Given the description of an element on the screen output the (x, y) to click on. 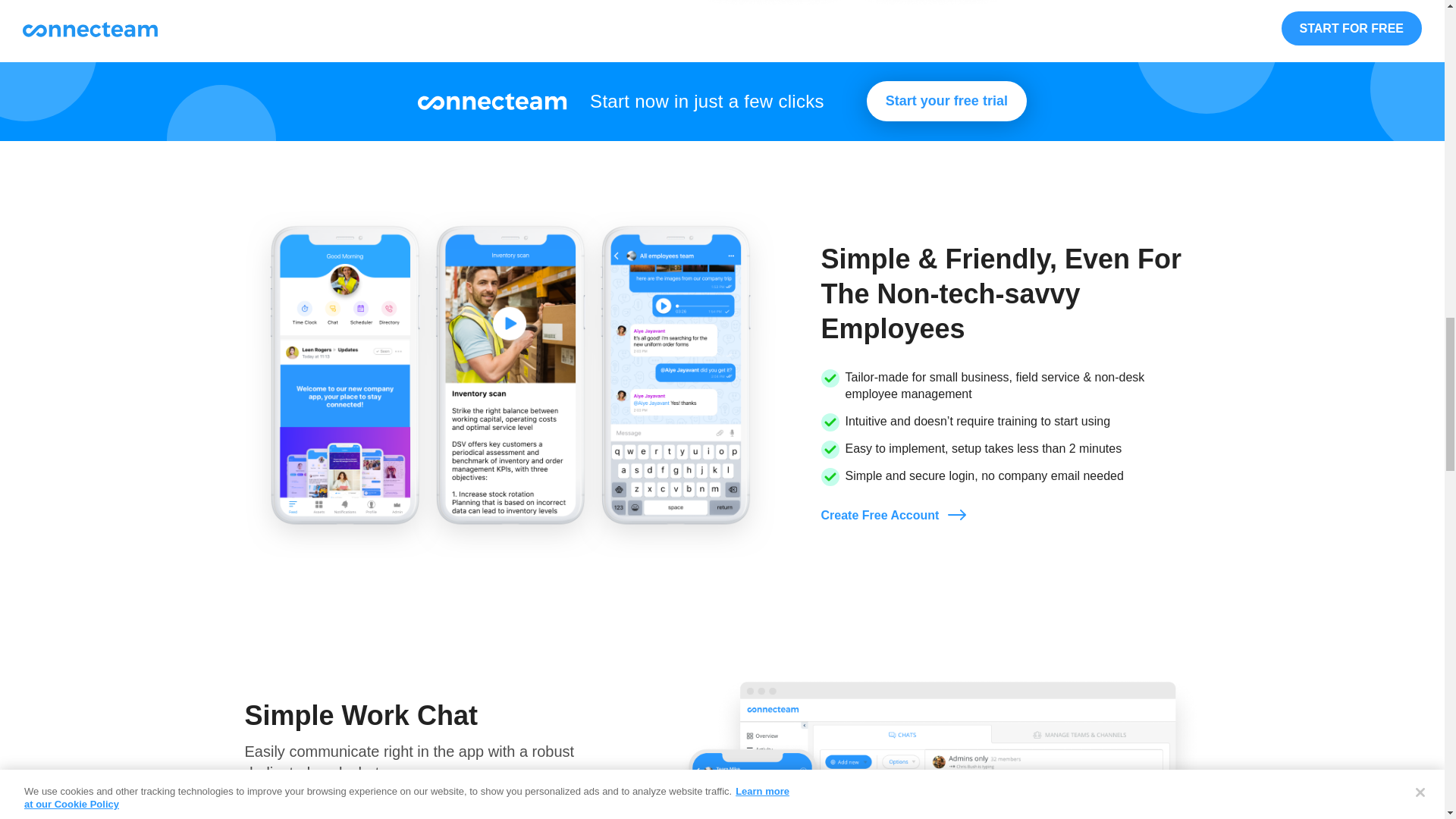
Start your free trial (946, 101)
Create Free Account (893, 515)
